Given the description of an element on the screen output the (x, y) to click on. 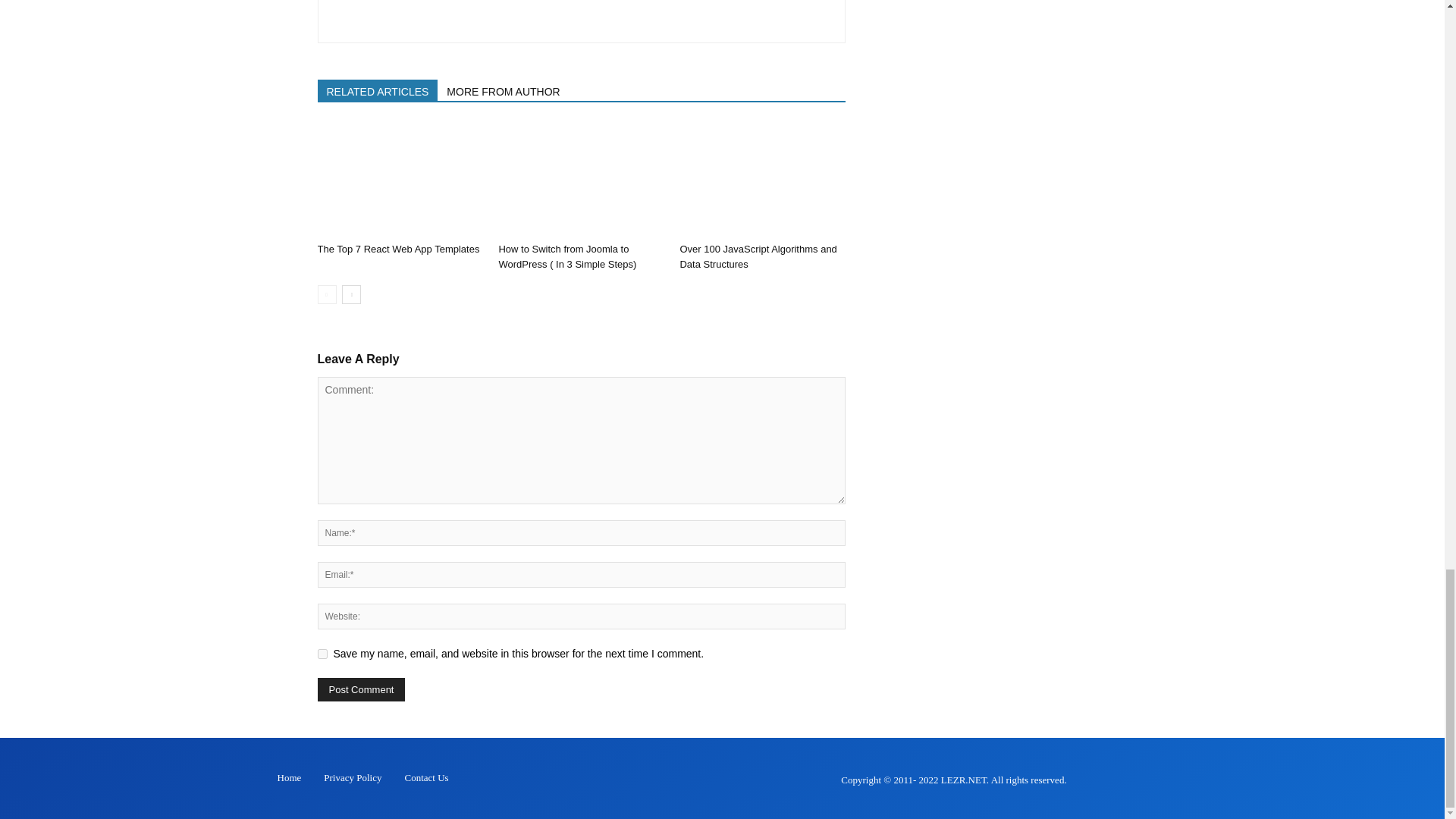
Post Comment (360, 689)
yes (321, 654)
